Given the description of an element on the screen output the (x, y) to click on. 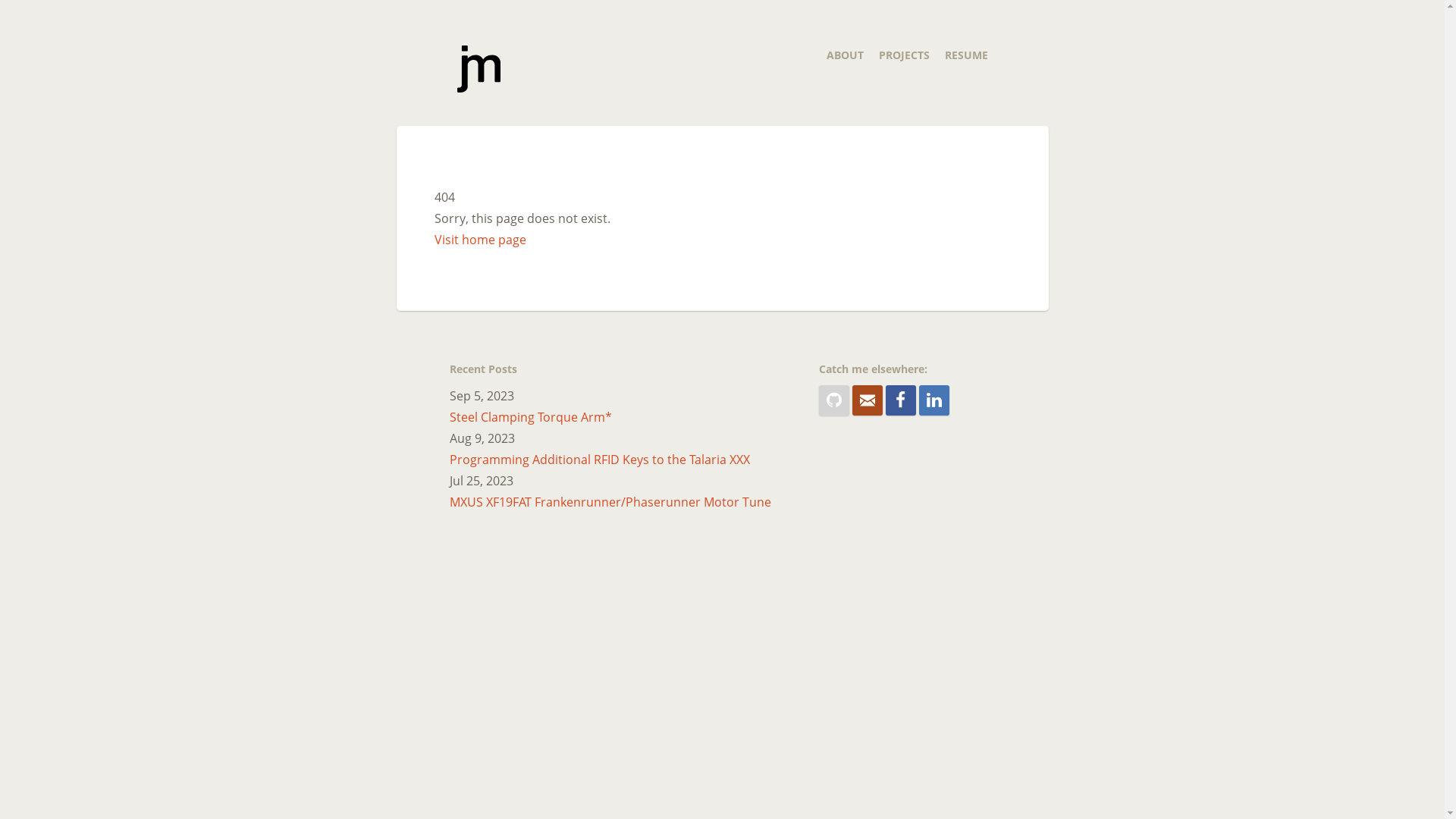
Steel Clamping Torque Arm* Element type: text (529, 416)
ABOUT Element type: text (844, 54)
MXUS XF19FAT Frankenrunner/Phaserunner Motor Tune Element type: text (609, 501)
Programming Additional RFID Keys to the Talaria XXX Element type: text (598, 459)
RESUME Element type: text (966, 54)
PROJECTS Element type: text (903, 54)
Visit home page Element type: text (479, 239)
